Given the description of an element on the screen output the (x, y) to click on. 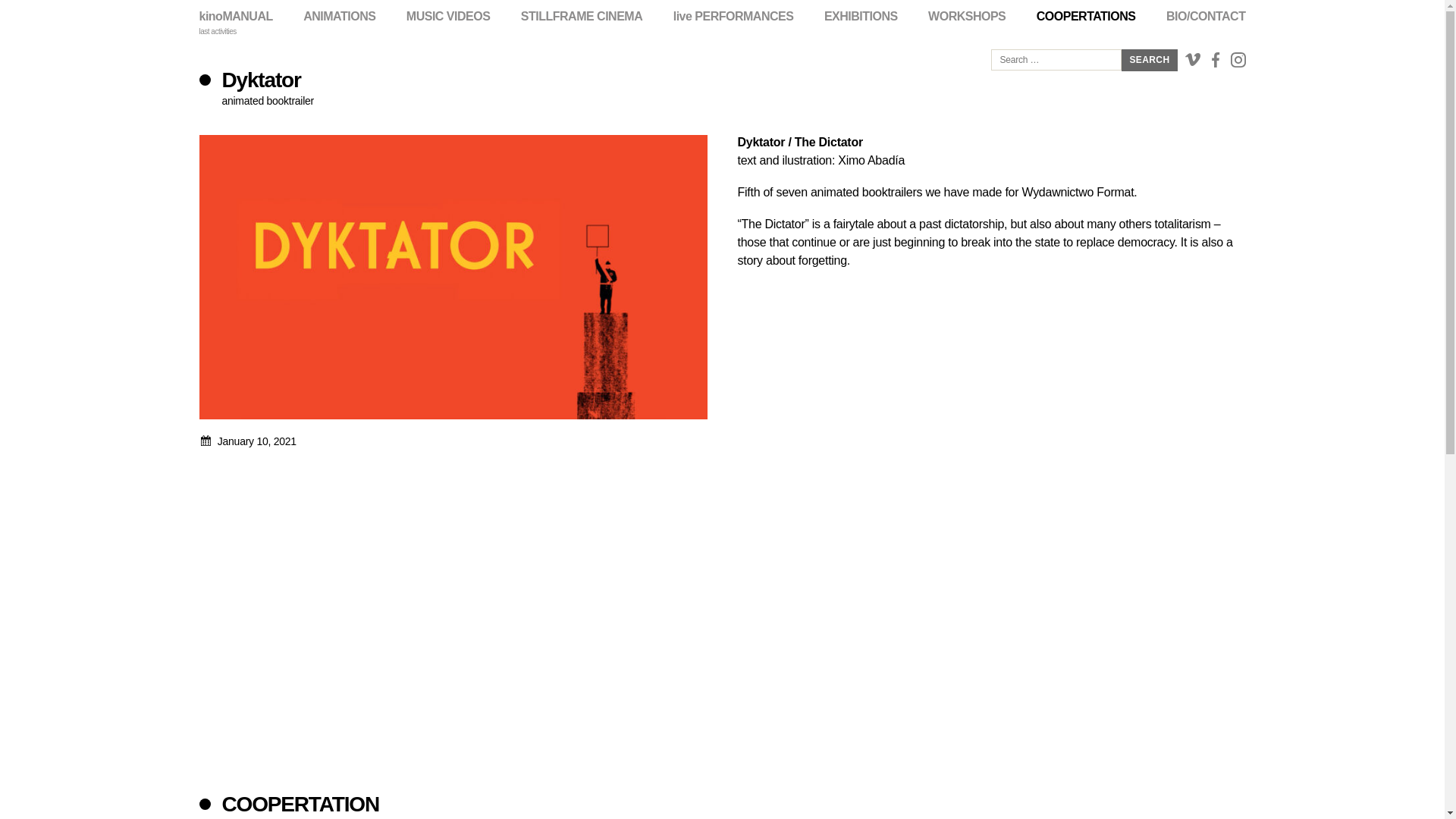
EXHIBITIONS (861, 16)
live PERFORMANCES (732, 16)
STILLFRAME CINEMA (581, 16)
kinoMANUAL (235, 16)
ANIMATIONS (338, 16)
MUSIC VIDEOS (447, 16)
WORKSHOPS (967, 16)
